Given the description of an element on the screen output the (x, y) to click on. 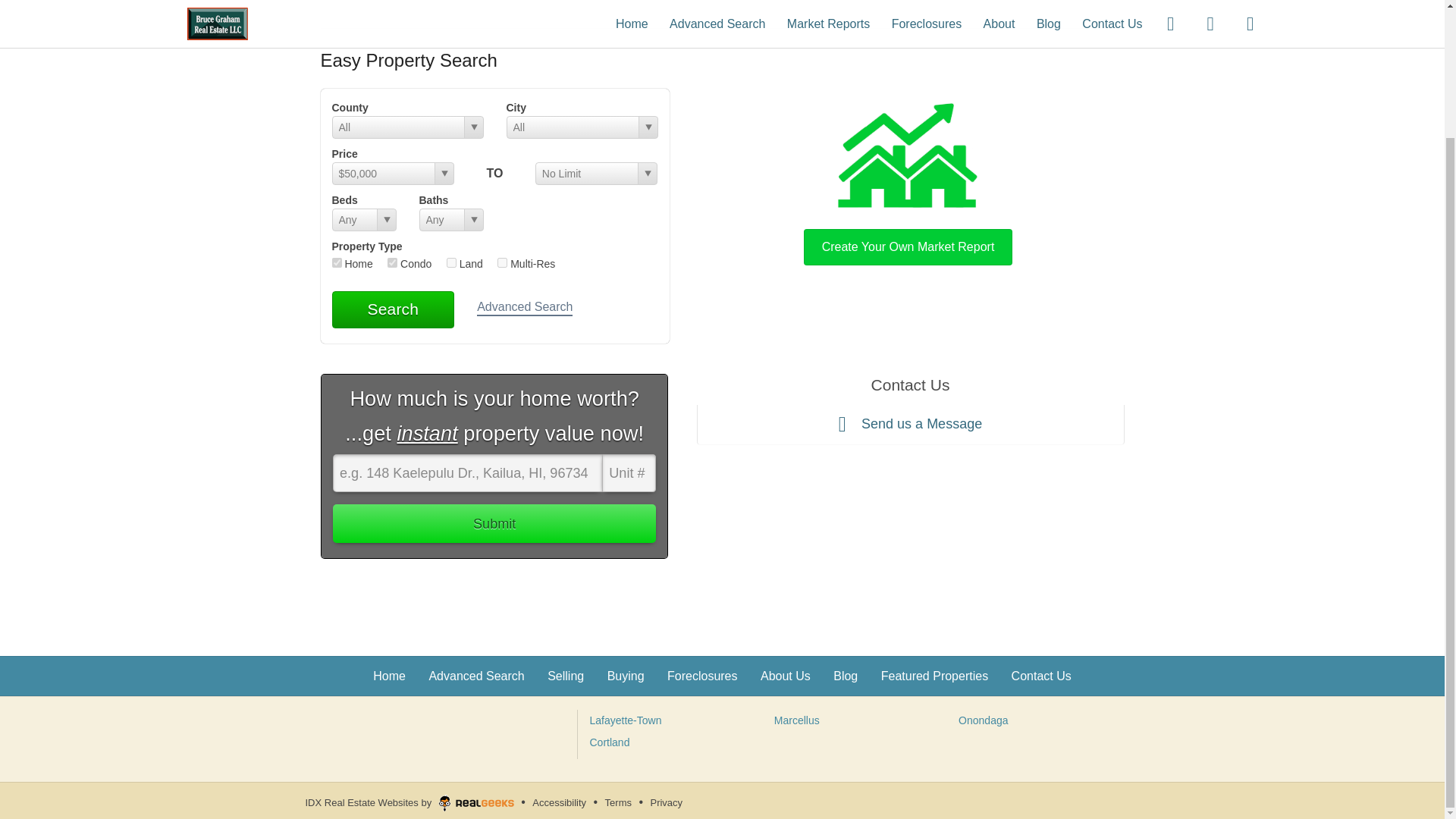
Blog (844, 675)
Contact Us (1041, 675)
mul (501, 262)
Featured Properties (934, 675)
Onondaga (982, 720)
About Us (785, 675)
IDX Real Estate Websites by (409, 799)
con (392, 262)
Search (392, 309)
Privacy (665, 802)
Accessibility (558, 802)
Buying (626, 675)
Cortland (609, 742)
Advanced Search (476, 675)
Marcellus (796, 720)
